Given the description of an element on the screen output the (x, y) to click on. 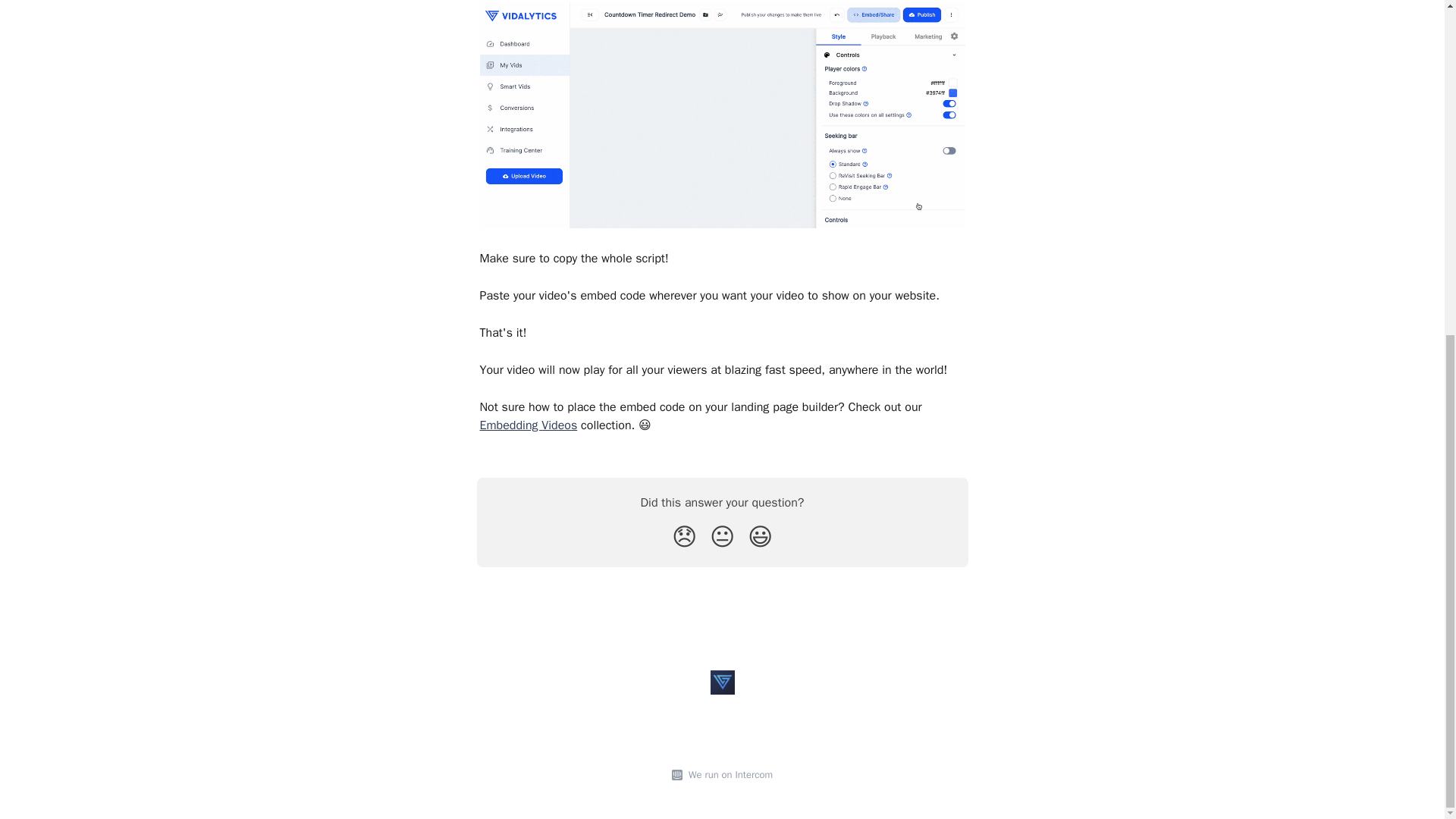
Embedding Videos (527, 425)
We run on Intercom (727, 774)
